Given the description of an element on the screen output the (x, y) to click on. 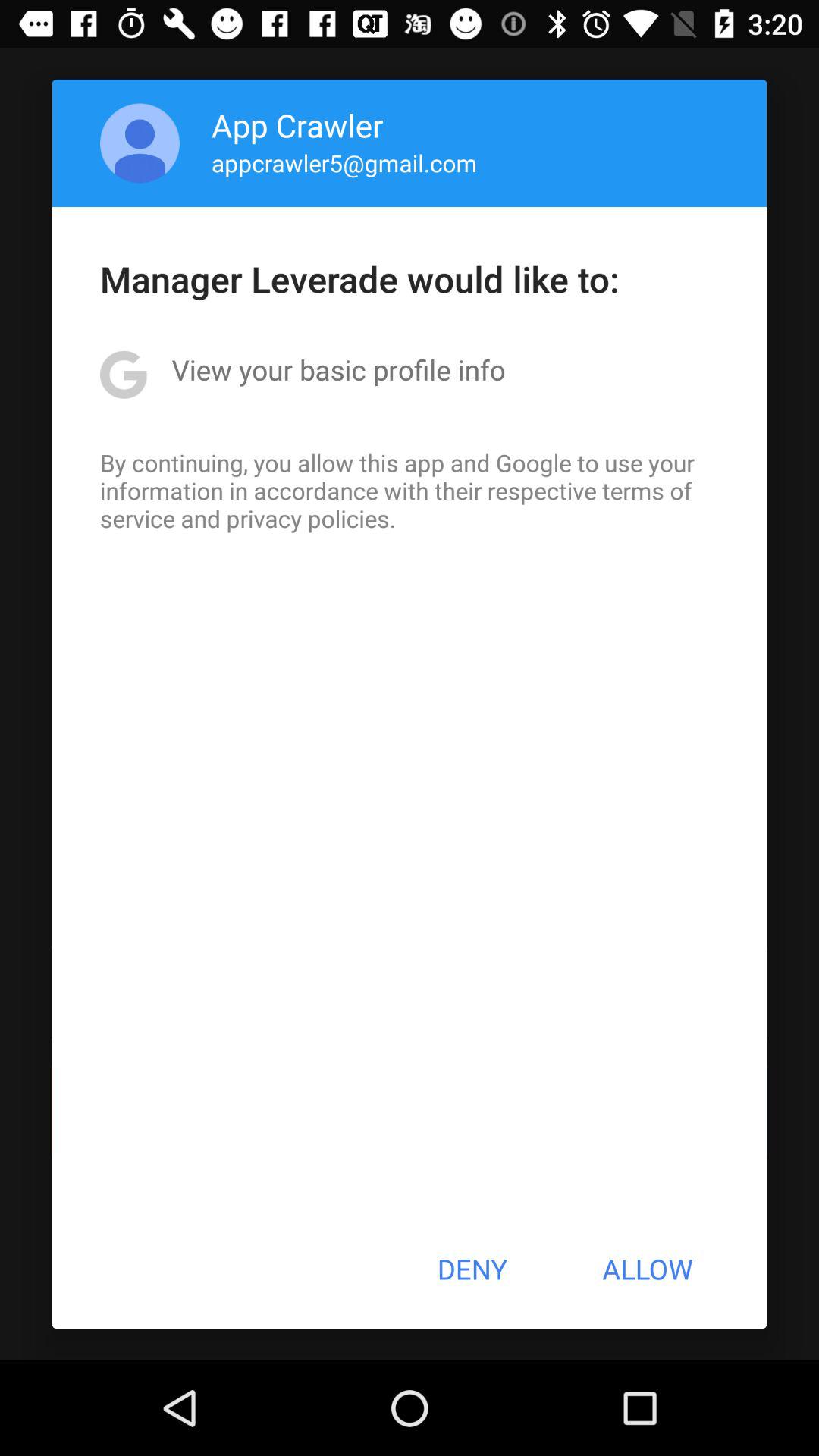
turn off app above by continuing you item (338, 369)
